Given the description of an element on the screen output the (x, y) to click on. 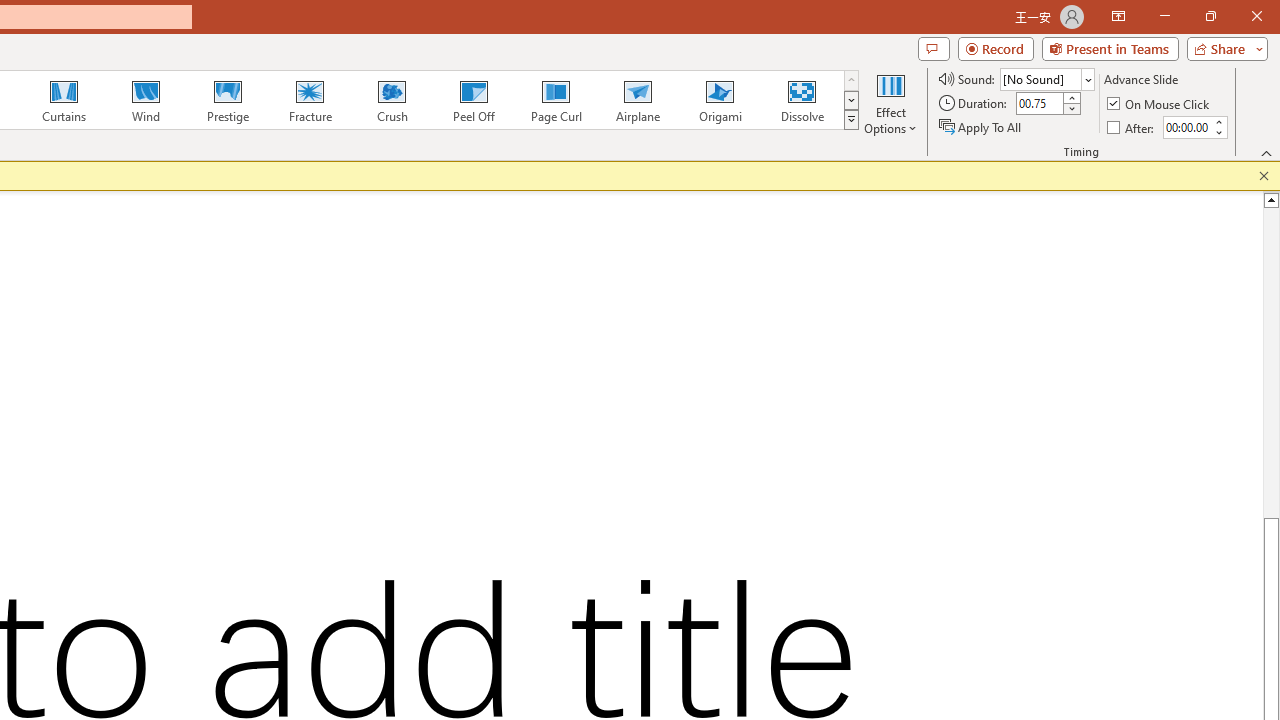
Prestige (227, 100)
Page Curl (555, 100)
Origami (719, 100)
Curtains (63, 100)
On Mouse Click (1159, 103)
Transition Effects (850, 120)
